Given the description of an element on the screen output the (x, y) to click on. 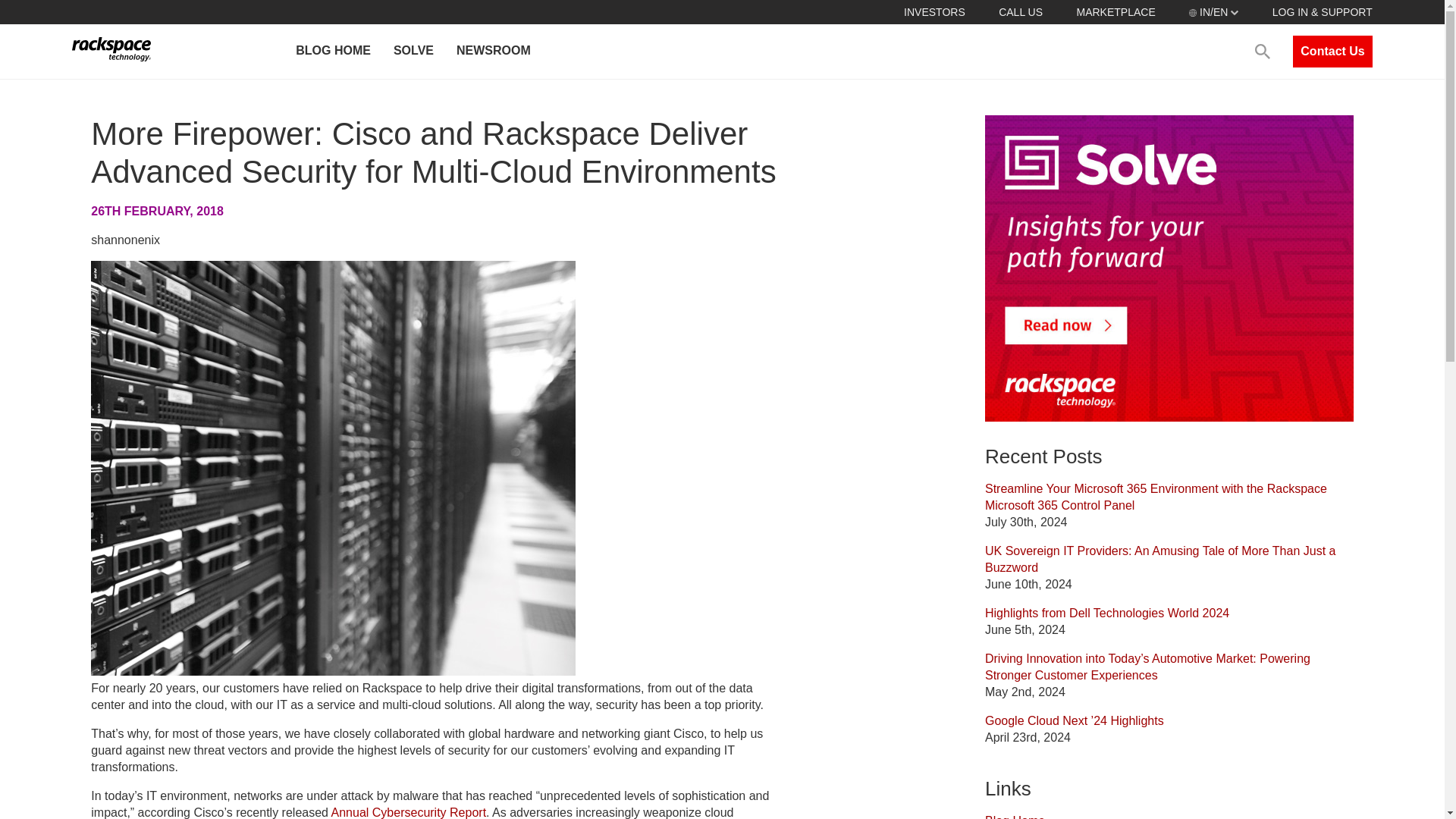
Highlights from Dell Technologies World 2024 (1106, 612)
NEWSROOM (493, 51)
CALL US (1020, 11)
Blog Home (1015, 816)
MARKETPLACE (1114, 11)
Contact Us (1331, 51)
INVESTORS (934, 11)
SOLVE (413, 51)
